Given the description of an element on the screen output the (x, y) to click on. 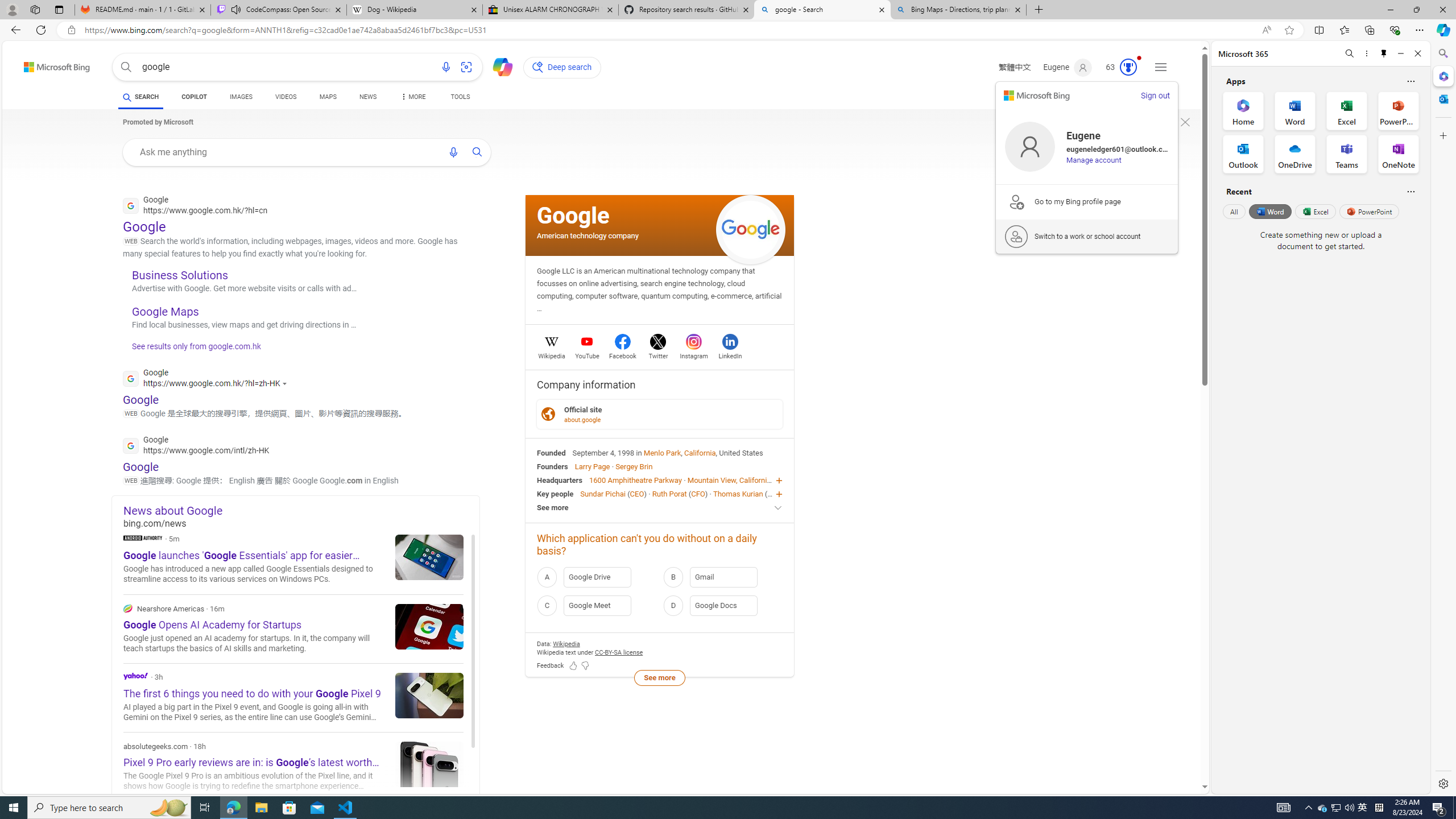
Search using an image (465, 66)
News about Google (301, 510)
google - Search (822, 9)
Sundar Pichai (602, 492)
TOOLS (460, 96)
Chat (497, 65)
Actions for this site (286, 383)
Customize (1442, 135)
TOOLS (460, 98)
Mute tab (235, 8)
Twitter (658, 354)
